Given the description of an element on the screen output the (x, y) to click on. 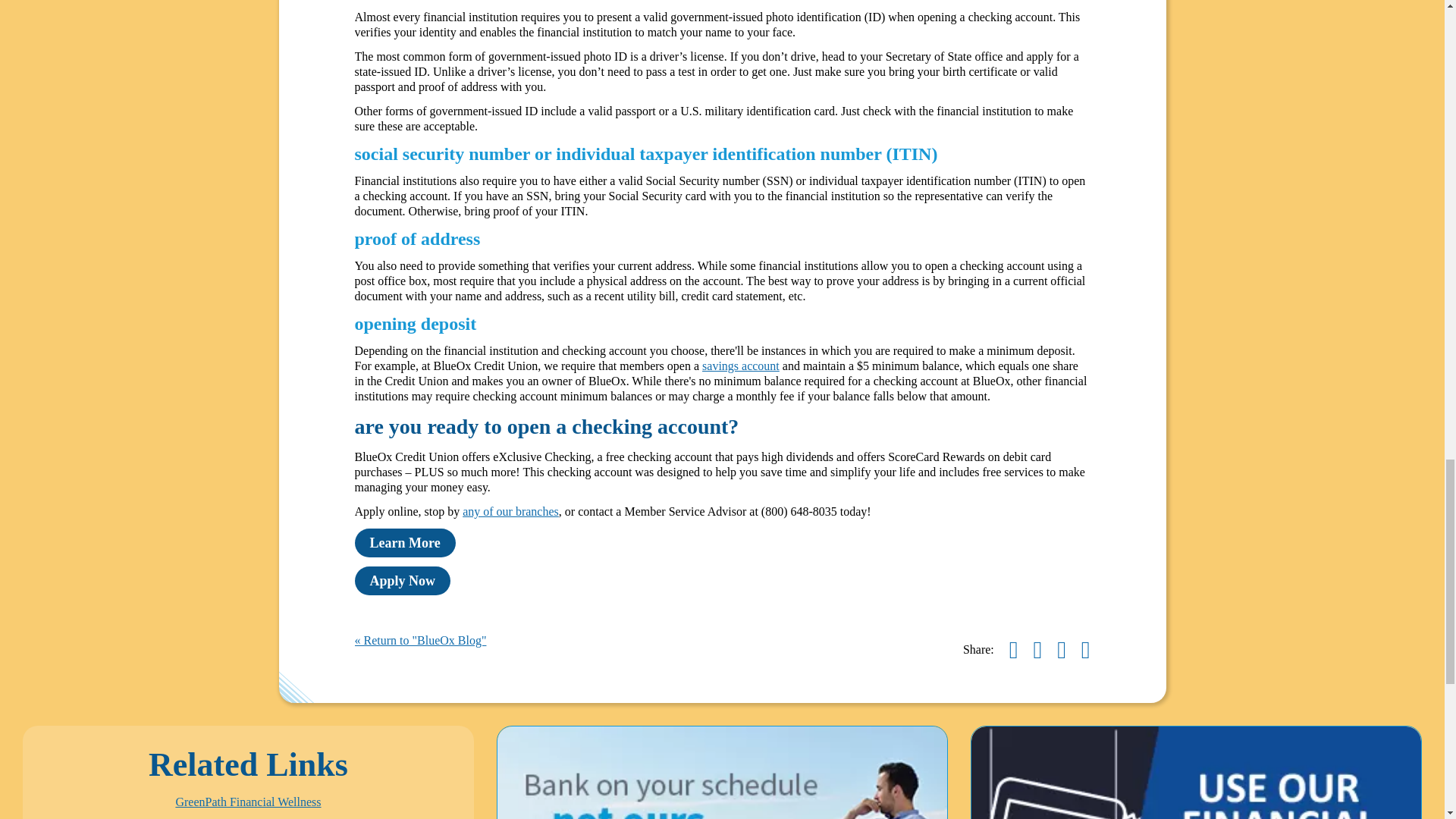
BlueOx Credit Union Online Banking (722, 772)
Branch Locations (511, 511)
